Given the description of an element on the screen output the (x, y) to click on. 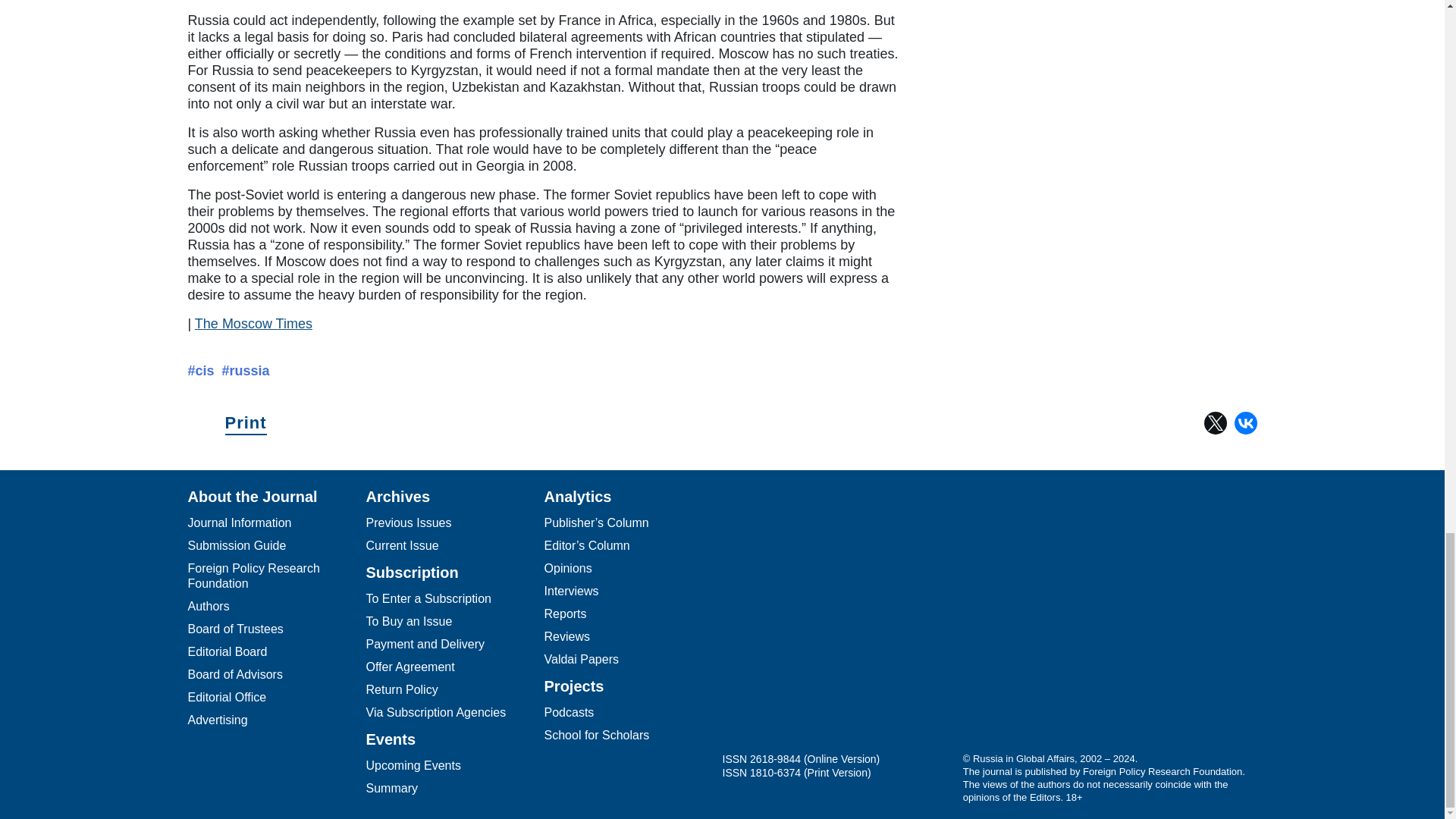
RSS (926, 627)
Twitter (805, 627)
Twitter (1215, 422)
Telegram (744, 627)
Vkontakte (865, 627)
